Given the description of an element on the screen output the (x, y) to click on. 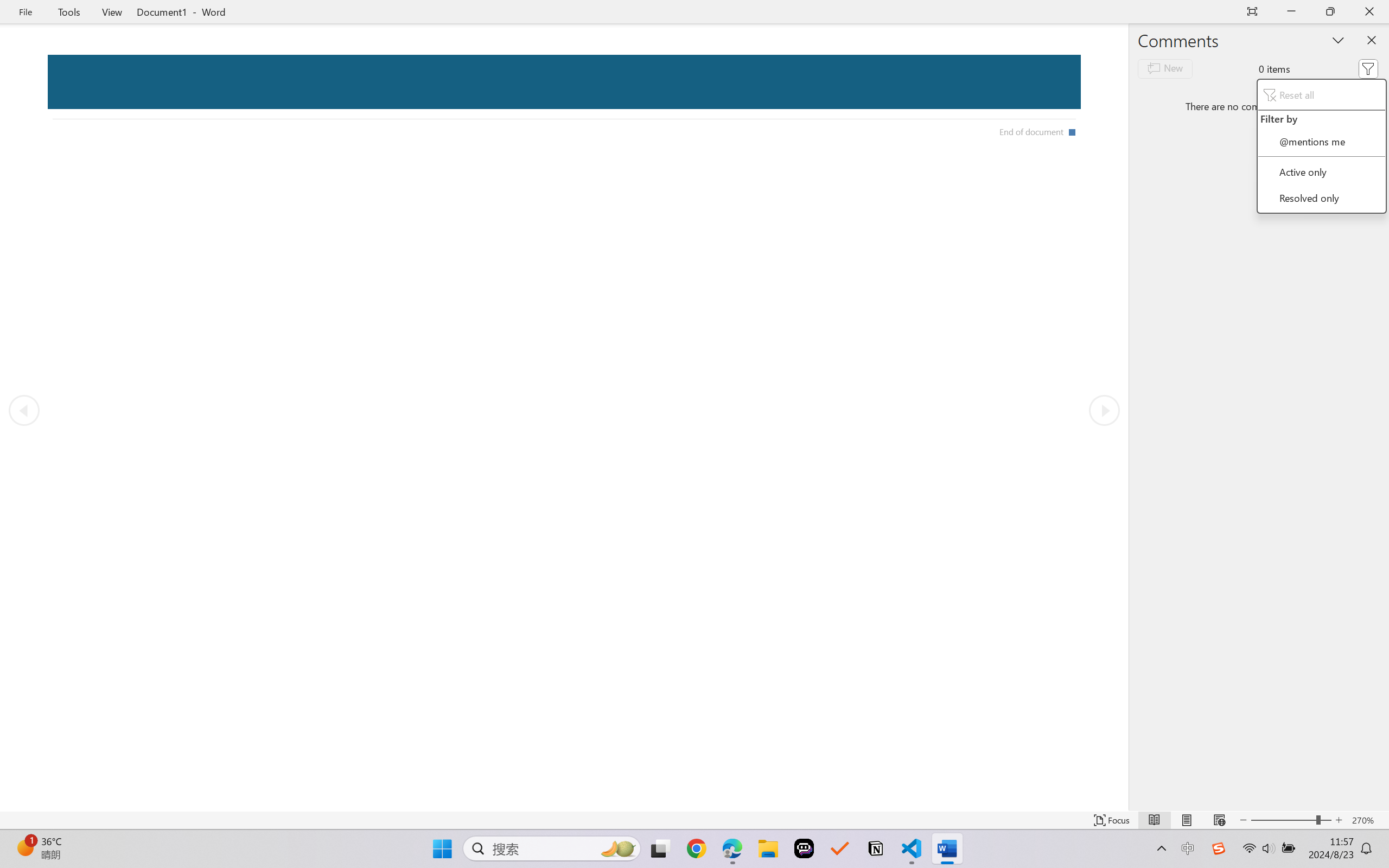
Filter (1367, 68)
Increase Text Size (1338, 819)
New comment (1165, 68)
